Given the description of an element on the screen output the (x, y) to click on. 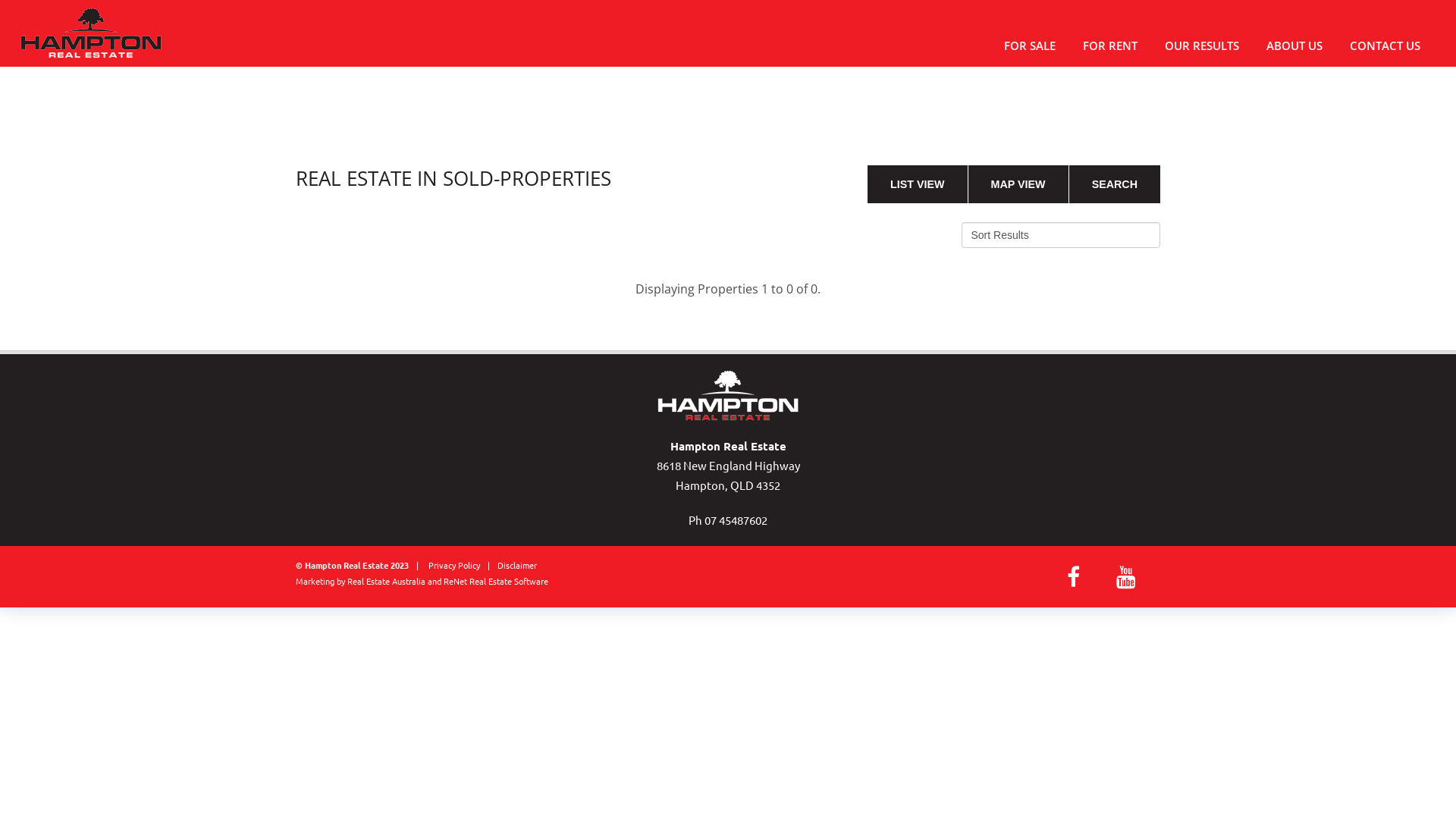
OUR RESULTS Element type: text (1206, 45)
SEARCH Element type: text (1114, 184)
MAP VIEW Element type: text (1018, 184)
CONTACT US Element type: text (1389, 45)
ABOUT US Element type: text (1298, 45)
07 45487602 Element type: text (735, 519)
Disclaimer Element type: text (516, 564)
Real Estate Software Element type: text (508, 580)
Privacy Policy Element type: text (454, 564)
LIST VIEW Element type: text (917, 184)
FOR RENT Element type: text (1114, 45)
Real Estate Australia Element type: text (386, 580)
FOR SALE Element type: text (1034, 45)
